Given the description of an element on the screen output the (x, y) to click on. 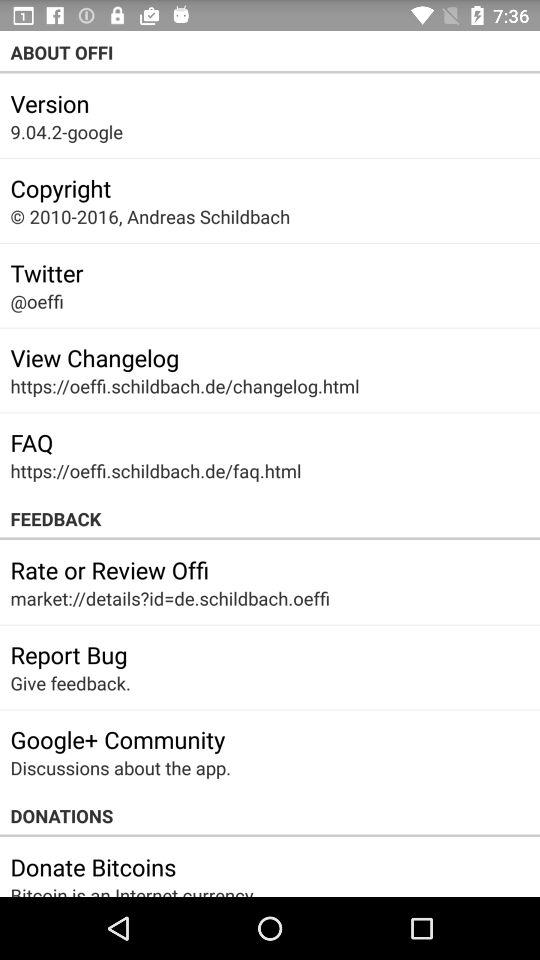
turn on the icon below the give feedback. item (117, 739)
